Given the description of an element on the screen output the (x, y) to click on. 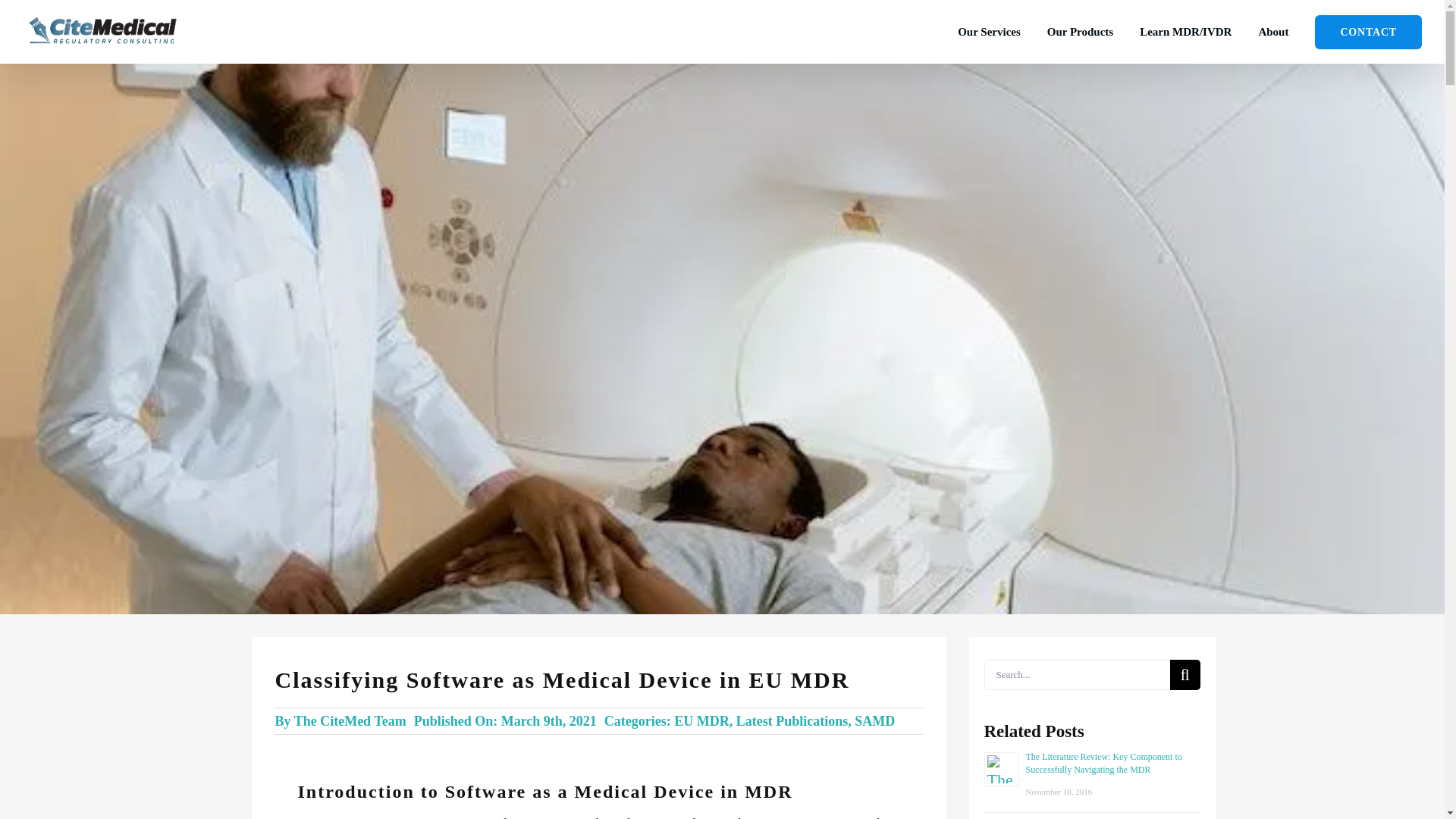
CONTACT (1368, 31)
Our Services (989, 31)
Our Products (1079, 31)
Blog (1185, 31)
Posts by The CiteMed Team (350, 720)
